Given the description of an element on the screen output the (x, y) to click on. 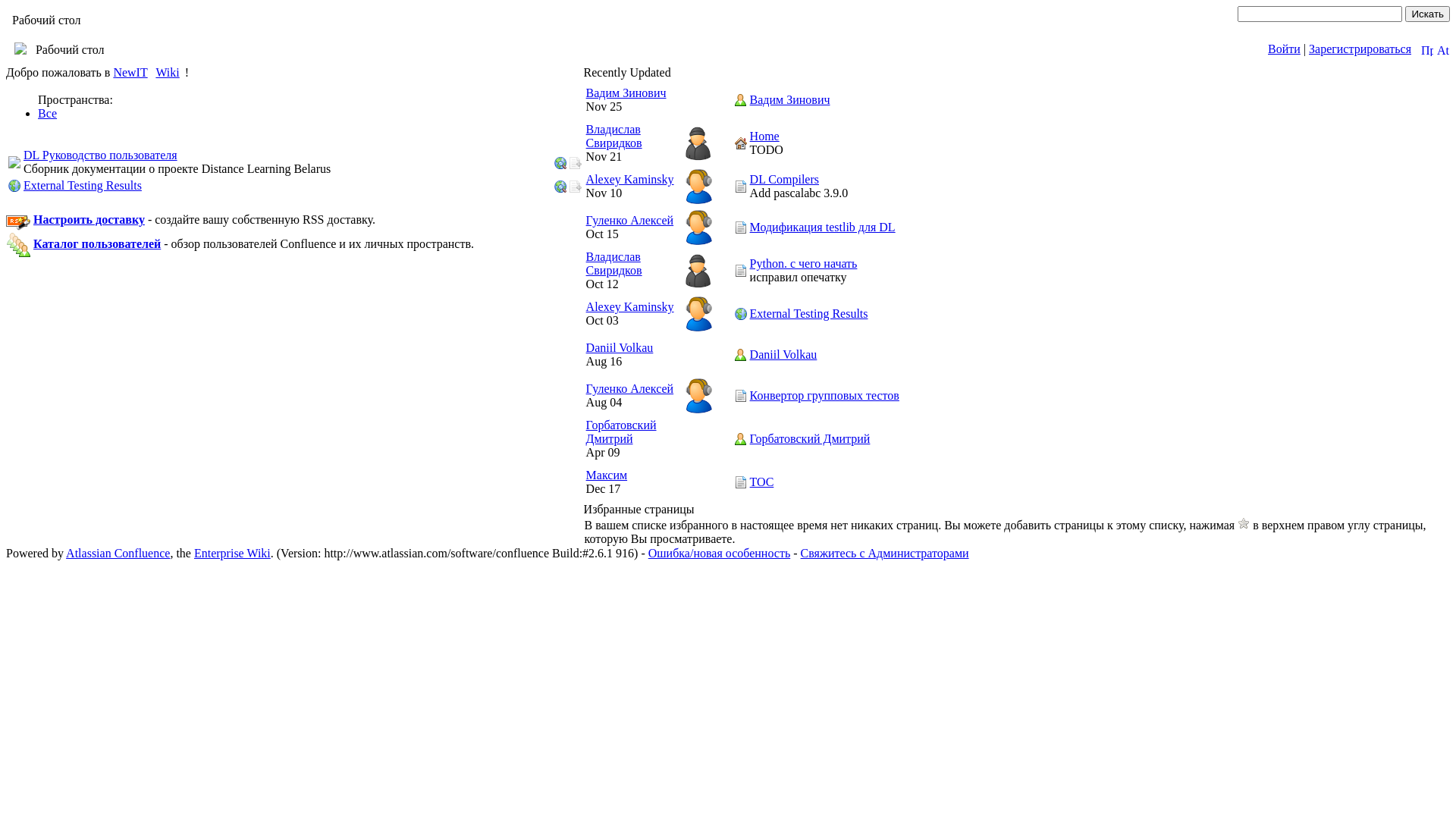
Alexey Kaminsky Element type: text (630, 306)
Daniil Volkau Element type: hover (740, 353)
External Testing Results Element type: text (808, 313)
Atom Feed Element type: hover (1443, 49)
External Testing Results Element type: hover (740, 312)
External Testing Results Element type: hover (740, 313)
Atlassian Confluence Element type: text (117, 552)
Daniil Volkau Element type: text (783, 354)
Daniil Volkau Element type: text (619, 347)
External Testing Results Element type: text (82, 184)
NewIT Element type: text (132, 71)
Home Element type: text (764, 135)
TOC Element type: text (761, 481)
User Profile: Daniil Volkau Element type: hover (740, 354)
TOC Element type: hover (740, 480)
Alexey Kaminsky Element type: text (630, 178)
Home Element type: hover (740, 141)
TOC Element type: hover (740, 482)
DL Compilers Element type: hover (740, 184)
Enterprise Wiki Element type: text (232, 552)
DL Compilers Element type: hover (740, 186)
Wiki Element type: text (169, 71)
DL Compilers Element type: text (784, 178)
